Given the description of an element on the screen output the (x, y) to click on. 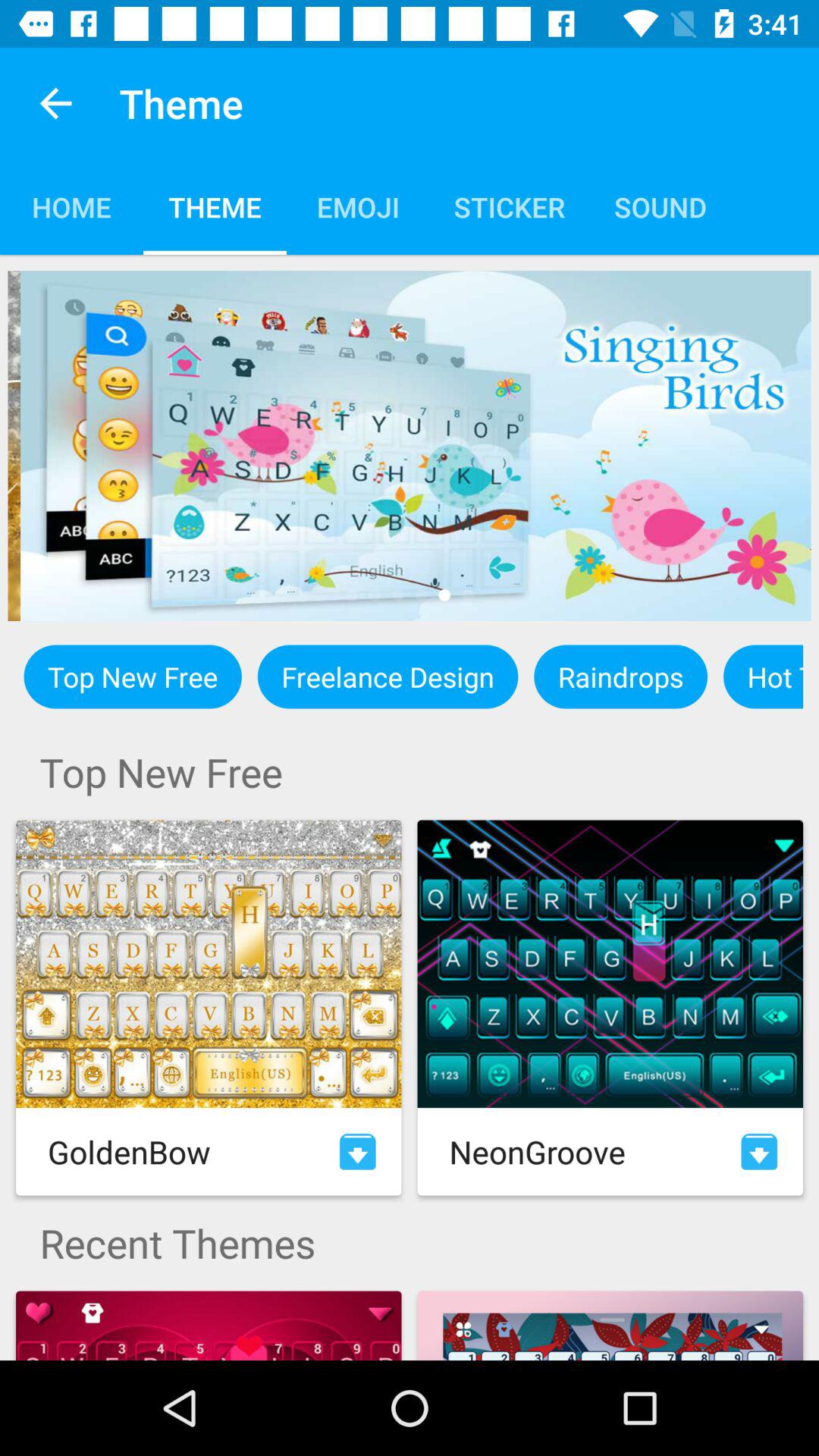
download (357, 1151)
